Given the description of an element on the screen output the (x, y) to click on. 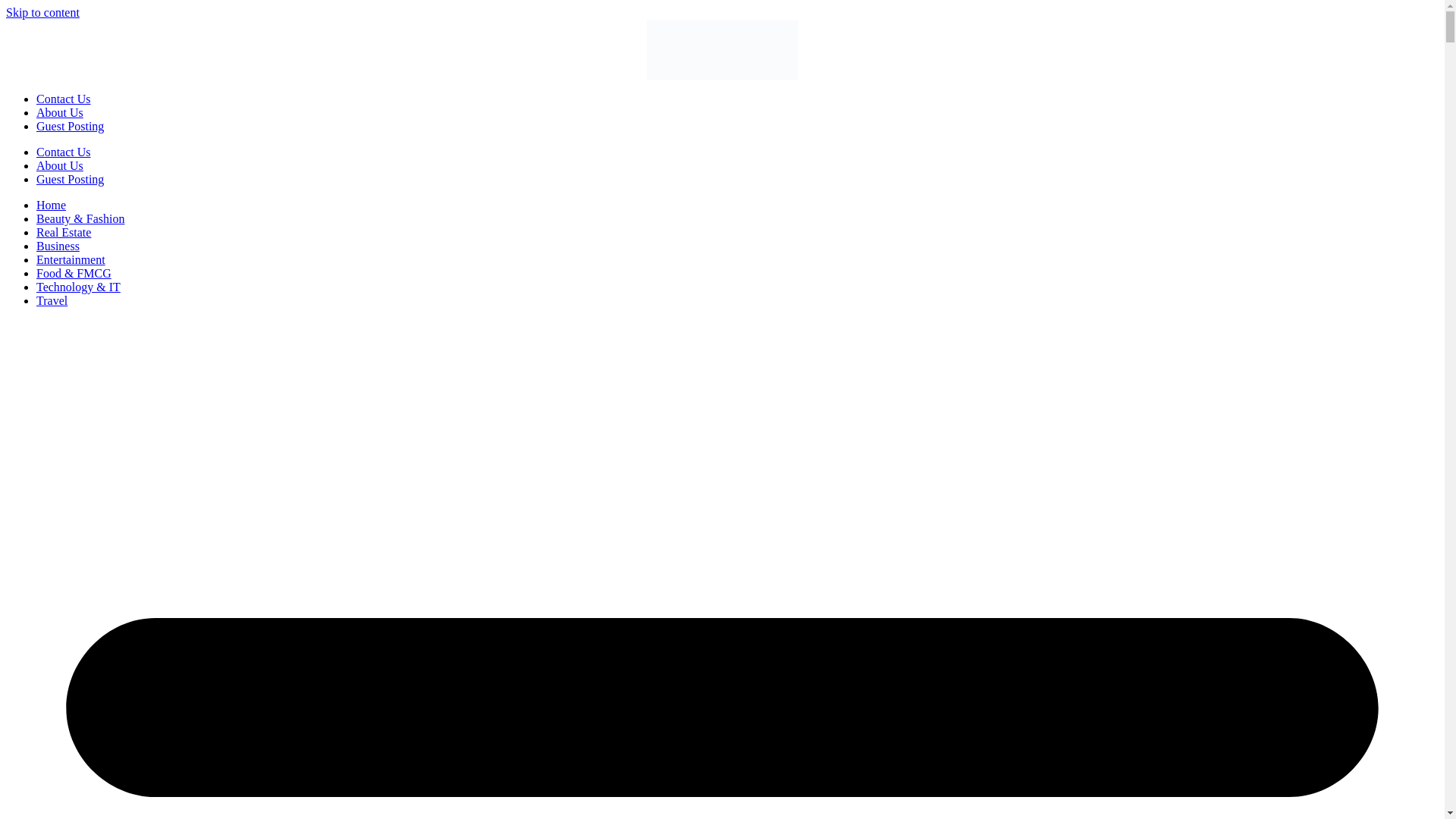
Home (50, 205)
Contact Us (63, 98)
Entertainment (70, 259)
Guest Posting (69, 125)
Skip to content (42, 11)
Contact Us (63, 151)
Guest Posting (69, 178)
Real Estate (63, 232)
Business (58, 245)
About Us (59, 164)
About Us (59, 112)
Travel (51, 300)
